Given the description of an element on the screen output the (x, y) to click on. 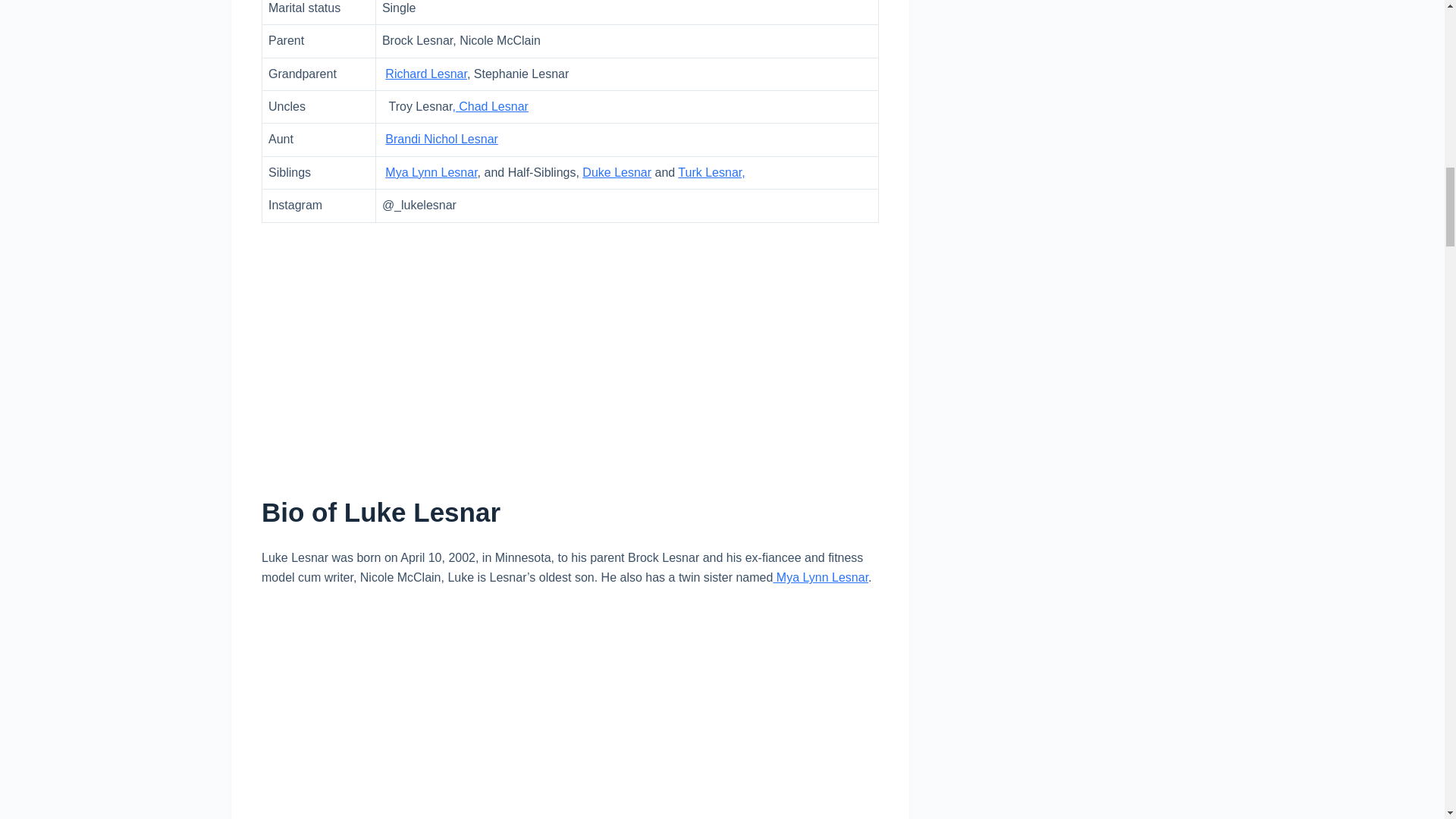
, Chad Lesnar (489, 106)
Richard Lesnar (426, 73)
Advertisement (570, 712)
Advertisement (570, 346)
Brandi Nichol Lesnar (441, 138)
